Given the description of an element on the screen output the (x, y) to click on. 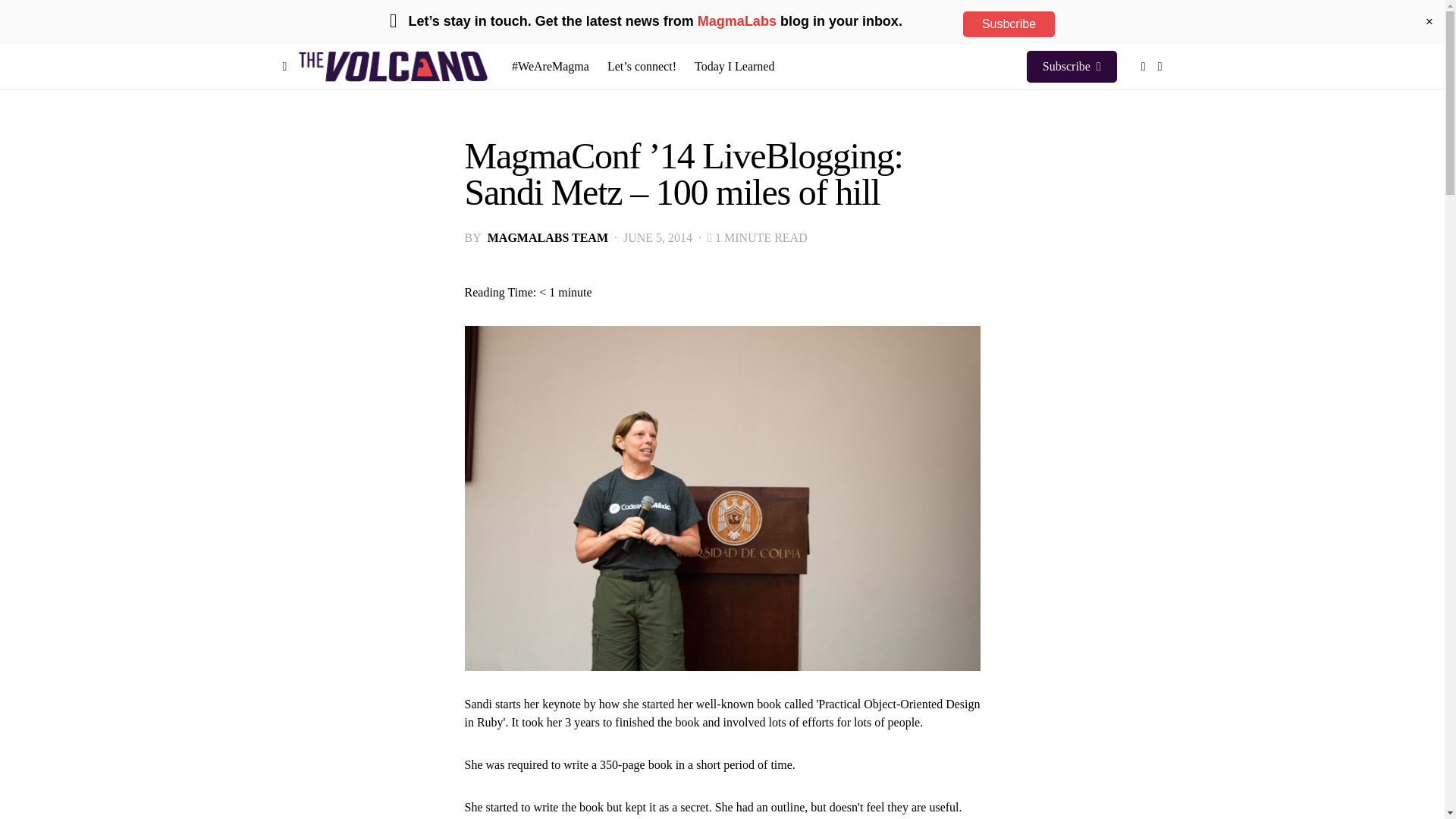
View all posts by MagmaLabs Team (547, 238)
Susbcribe (1008, 23)
MagmaLabs (736, 20)
